Given the description of an element on the screen output the (x, y) to click on. 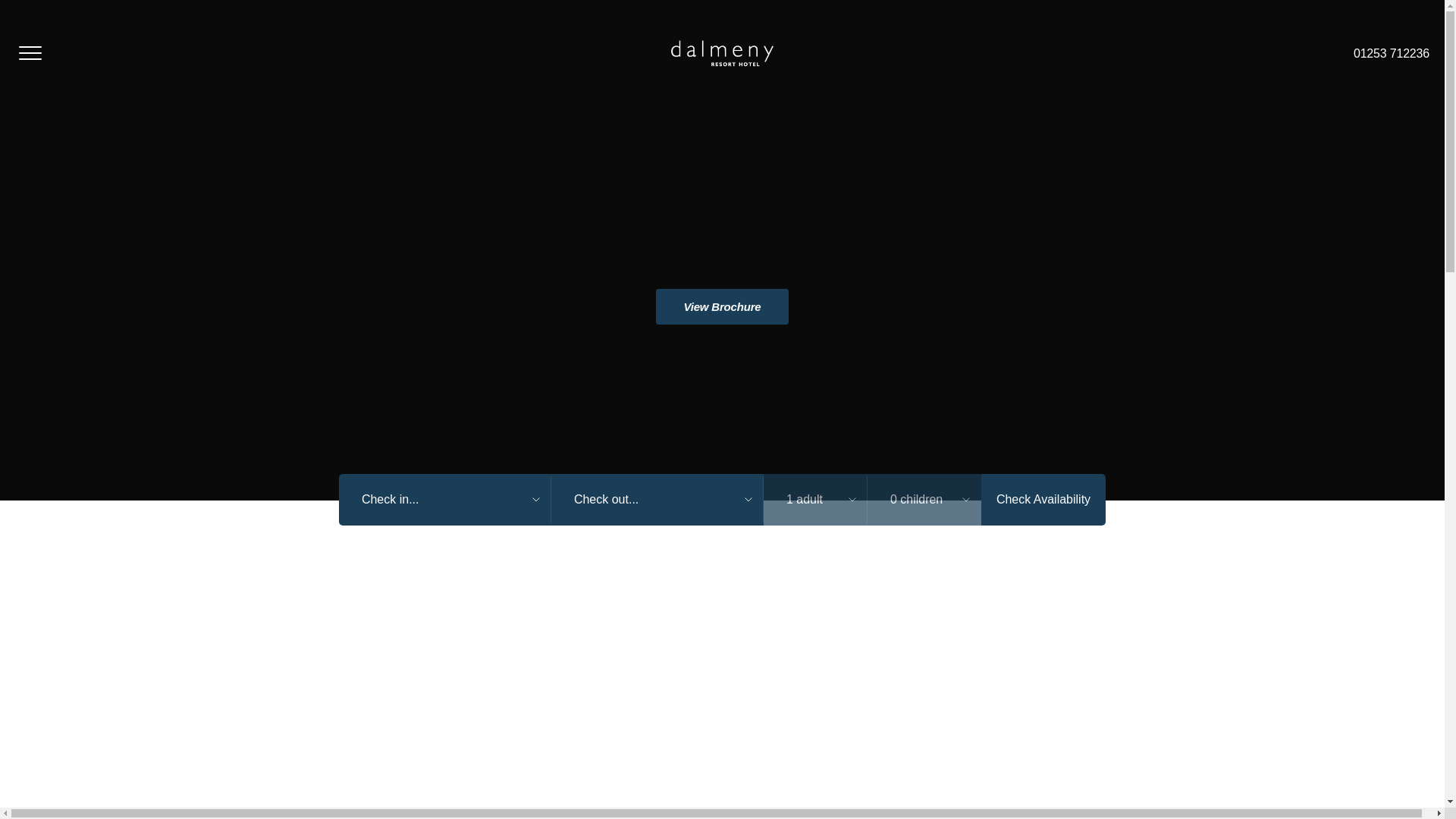
Check Availability (1043, 499)
01253 712236 (1391, 52)
View Brochure (721, 306)
